Given the description of an element on the screen output the (x, y) to click on. 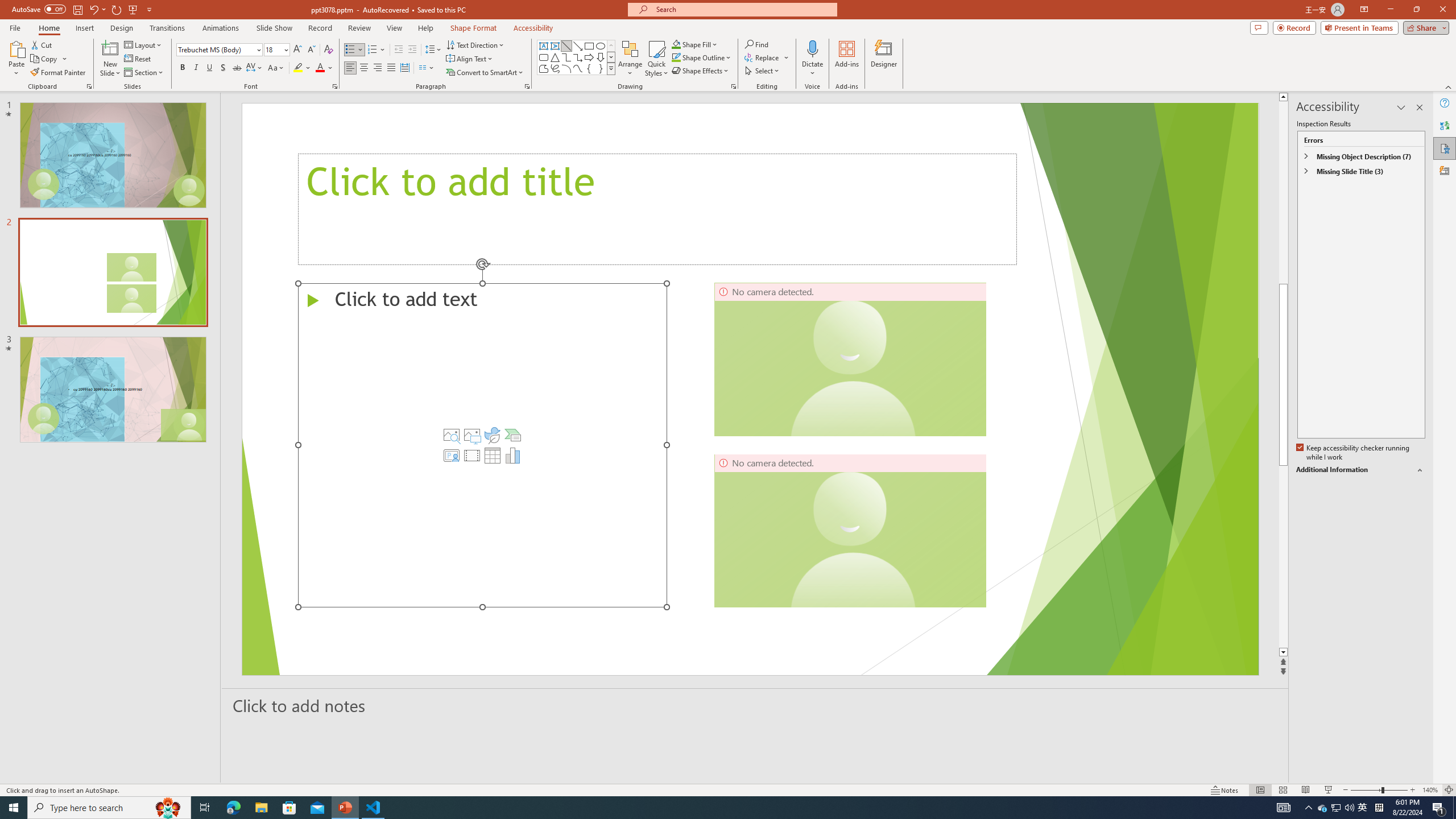
Bold (182, 67)
Text Highlight Color Yellow (297, 67)
Underline (209, 67)
Layout (143, 44)
Camera 3, No camera detected. (850, 530)
Columns (426, 67)
Keep accessibility checker running while I work (1353, 452)
Select (762, 69)
Isosceles Triangle (554, 57)
